Given the description of an element on the screen output the (x, y) to click on. 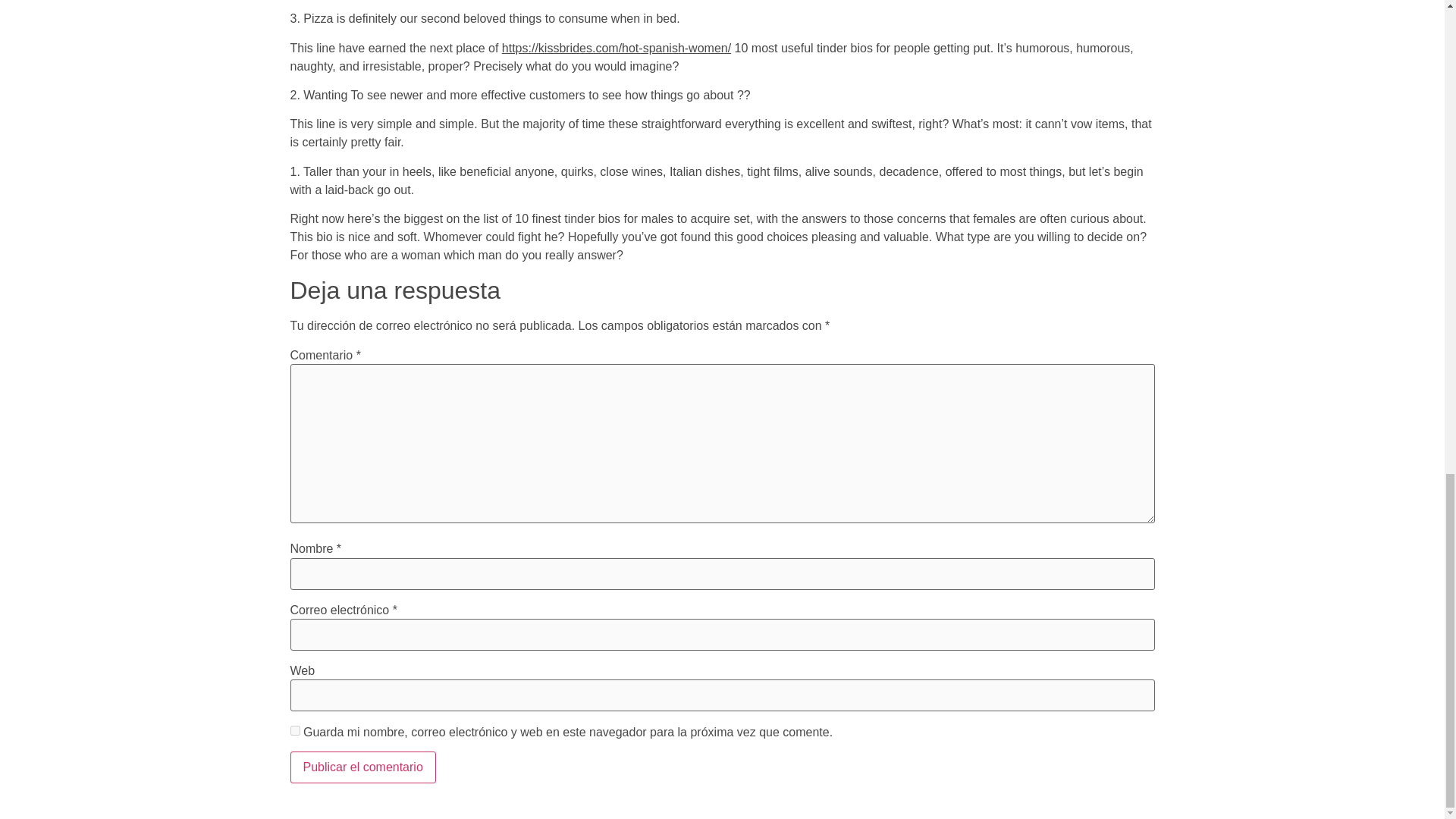
Publicar el comentario (362, 766)
Publicar el comentario (362, 766)
yes (294, 730)
